Given the description of an element on the screen output the (x, y) to click on. 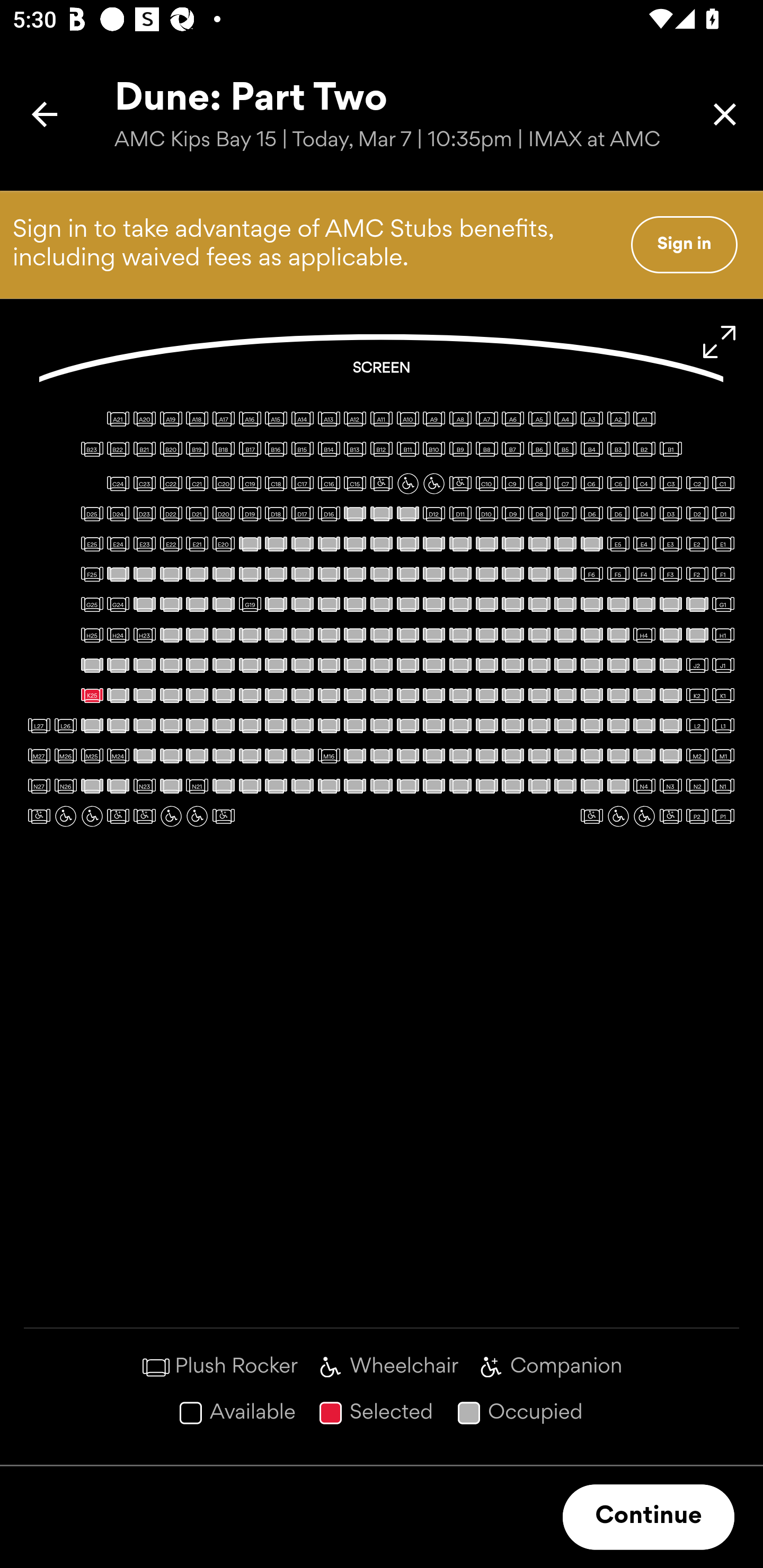
Back (44, 114)
Close (724, 114)
Sign in (684, 244)
Zoom (719, 342)
A21, Regular seat, available (118, 419)
A20, Regular seat, available (144, 419)
A19, Regular seat, available (170, 419)
A18, Regular seat, available (197, 419)
A17, Regular seat, available (223, 419)
A16, Regular seat, available (249, 419)
A15, Regular seat, available (276, 419)
A14, Regular seat, available (302, 419)
A13, Regular seat, available (328, 419)
A12, Regular seat, available (355, 419)
A11, Regular seat, available (381, 419)
A10, Regular seat, available (407, 419)
A9, Regular seat, available (433, 419)
A8, Regular seat, available (460, 419)
A7, Regular seat, available (486, 419)
A6, Regular seat, available (512, 419)
A5, Regular seat, available (539, 419)
A4, Regular seat, available (565, 419)
A3, Regular seat, available (591, 419)
A2, Regular seat, available (618, 419)
A1, Regular seat, available (644, 419)
B23, Regular seat, available (91, 449)
B22, Regular seat, available (118, 449)
B21, Regular seat, available (144, 449)
B20, Regular seat, available (170, 449)
B19, Regular seat, available (197, 449)
B18, Regular seat, available (223, 449)
B17, Regular seat, available (249, 449)
B16, Regular seat, available (276, 449)
B15, Regular seat, available (302, 449)
B14, Regular seat, available (328, 449)
B13, Regular seat, available (355, 449)
B12, Regular seat, available (381, 449)
B11, Regular seat, available (407, 449)
B10, Regular seat, available (433, 449)
B9, Regular seat, available (460, 449)
B8, Regular seat, available (486, 449)
B7, Regular seat, available (512, 449)
B6, Regular seat, available (539, 449)
B5, Regular seat, available (565, 449)
B4, Regular seat, available (591, 449)
B3, Regular seat, available (618, 449)
B2, Regular seat, available (644, 449)
B1, Regular seat, available (670, 449)
C24, Regular seat, available (118, 483)
C23, Regular seat, available (144, 483)
C22, Regular seat, available (170, 483)
C21, Regular seat, available (197, 483)
C20, Regular seat, available (223, 483)
C19, Regular seat, available (249, 483)
C18, Regular seat, available (276, 483)
C17, Regular seat, available (302, 483)
C16, Regular seat, available (328, 483)
C15, Regular seat, available (355, 483)
C14, Wheelchair companion seat, available (381, 483)
C13, Wheelchair space, available (407, 483)
C12, Wheelchair space, available (433, 483)
C11, Wheelchair companion seat, available (460, 483)
C10, Regular seat, available (486, 483)
C9, Regular seat, available (512, 483)
C8, Regular seat, available (539, 483)
C7, Regular seat, available (565, 483)
C6, Regular seat, available (591, 483)
C5, Regular seat, available (618, 483)
C4, Regular seat, available (644, 483)
C3, Regular seat, available (670, 483)
C2, Regular seat, available (697, 483)
C1, Regular seat, available (723, 483)
D25, Regular seat, available (91, 513)
D24, Regular seat, available (118, 513)
D23, Regular seat, available (144, 513)
D22, Regular seat, available (170, 513)
D21, Regular seat, available (197, 513)
D20, Regular seat, available (223, 513)
D19, Regular seat, available (249, 513)
D18, Regular seat, available (276, 513)
D17, Regular seat, available (302, 513)
D16, Regular seat, available (328, 513)
D12, Regular seat, available (433, 513)
D11, Regular seat, available (460, 513)
D10, Regular seat, available (486, 513)
D9, Regular seat, available (512, 513)
D8, Regular seat, available (539, 513)
D7, Regular seat, available (565, 513)
D6, Regular seat, available (591, 513)
D5, Regular seat, available (618, 513)
D4, Regular seat, available (644, 513)
D3, Regular seat, available (670, 513)
D2, Regular seat, available (697, 513)
D1, Regular seat, available (723, 513)
E25, Regular seat, available (91, 543)
E24, Regular seat, available (118, 543)
E23, Regular seat, available (144, 543)
E22, Regular seat, available (170, 543)
E21, Regular seat, available (197, 543)
E20, Regular seat, available (223, 543)
E5, Regular seat, available (618, 543)
E4, Regular seat, available (644, 543)
E3, Regular seat, available (670, 543)
E2, Regular seat, available (697, 543)
E1, Regular seat, available (723, 543)
F25, Regular seat, available (91, 574)
F6, Regular seat, available (591, 574)
F5, Regular seat, available (618, 574)
F4, Regular seat, available (644, 574)
F3, Regular seat, available (670, 574)
F2, Regular seat, available (697, 574)
F1, Regular seat, available (723, 574)
G25, Regular seat, available (91, 604)
G24, Regular seat, available (118, 604)
G19, Regular seat, available (249, 604)
G1, Regular seat, available (723, 604)
H25, Regular seat, available (91, 634)
H24, Regular seat, available (118, 634)
H23, Regular seat, available (144, 634)
H4, Regular seat, available (644, 634)
H1, Regular seat, available (723, 634)
J2, Regular seat, available (697, 665)
J1, Regular seat, available (723, 665)
K25, Regular seat, selected (91, 695)
K2, Regular seat, available (697, 695)
K1, Regular seat, available (723, 695)
L27, Regular seat, available (39, 725)
L26, Regular seat, available (65, 725)
L2, Regular seat, available (697, 725)
L1, Regular seat, available (723, 725)
M27, Regular seat, available (39, 755)
M26, Regular seat, available (65, 755)
M25, Regular seat, available (91, 755)
M24, Regular seat, available (118, 755)
M16, Regular seat, available (328, 755)
M2, Regular seat, available (697, 755)
M1, Regular seat, available (723, 755)
N27, Regular seat, available (39, 786)
N26, Regular seat, available (65, 786)
N23, Regular seat, available (144, 786)
N21, Regular seat, available (197, 786)
N4, Regular seat, available (644, 786)
N3, Regular seat, available (670, 786)
N2, Regular seat, available (697, 786)
N1, Regular seat, available (723, 786)
P14, Wheelchair companion seat, available (39, 816)
P13, Wheelchair space, available (65, 816)
P12, Wheelchair space, available (91, 816)
P11, Wheelchair companion seat, available (118, 816)
P10, Wheelchair companion seat, available (144, 816)
P9, Wheelchair space, available (170, 816)
P8, Wheelchair space, available (197, 816)
P7, Wheelchair companion seat, available (223, 816)
P6, Wheelchair companion seat, available (591, 816)
P5, Wheelchair space, available (618, 816)
P4, Wheelchair space, available (644, 816)
P3, Wheelchair companion seat, available (670, 816)
P2, Regular seat, available (697, 816)
P1, Regular seat, available (723, 816)
Continue (648, 1516)
